Given the description of an element on the screen output the (x, y) to click on. 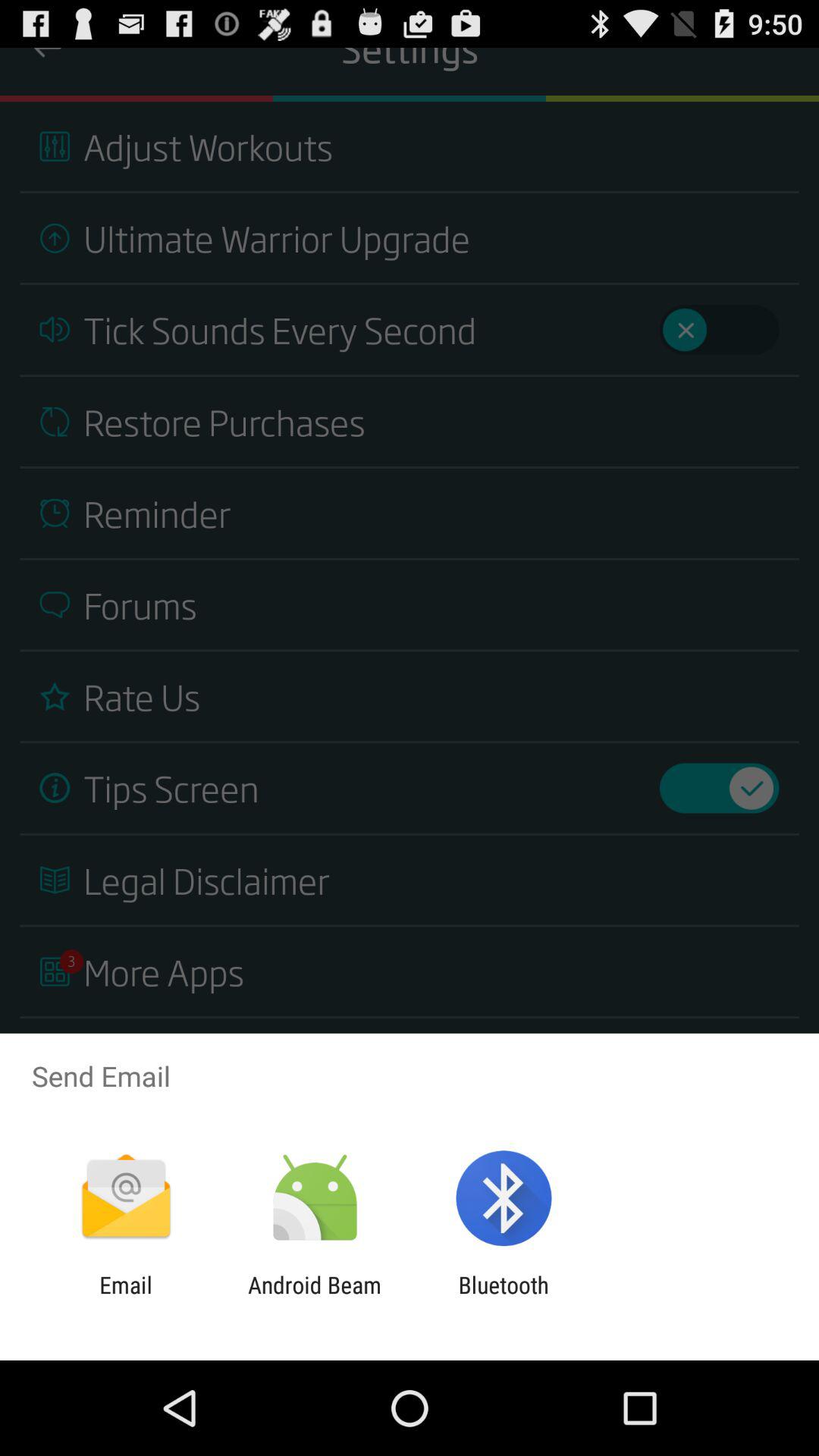
select the android beam item (314, 1298)
